Given the description of an element on the screen output the (x, y) to click on. 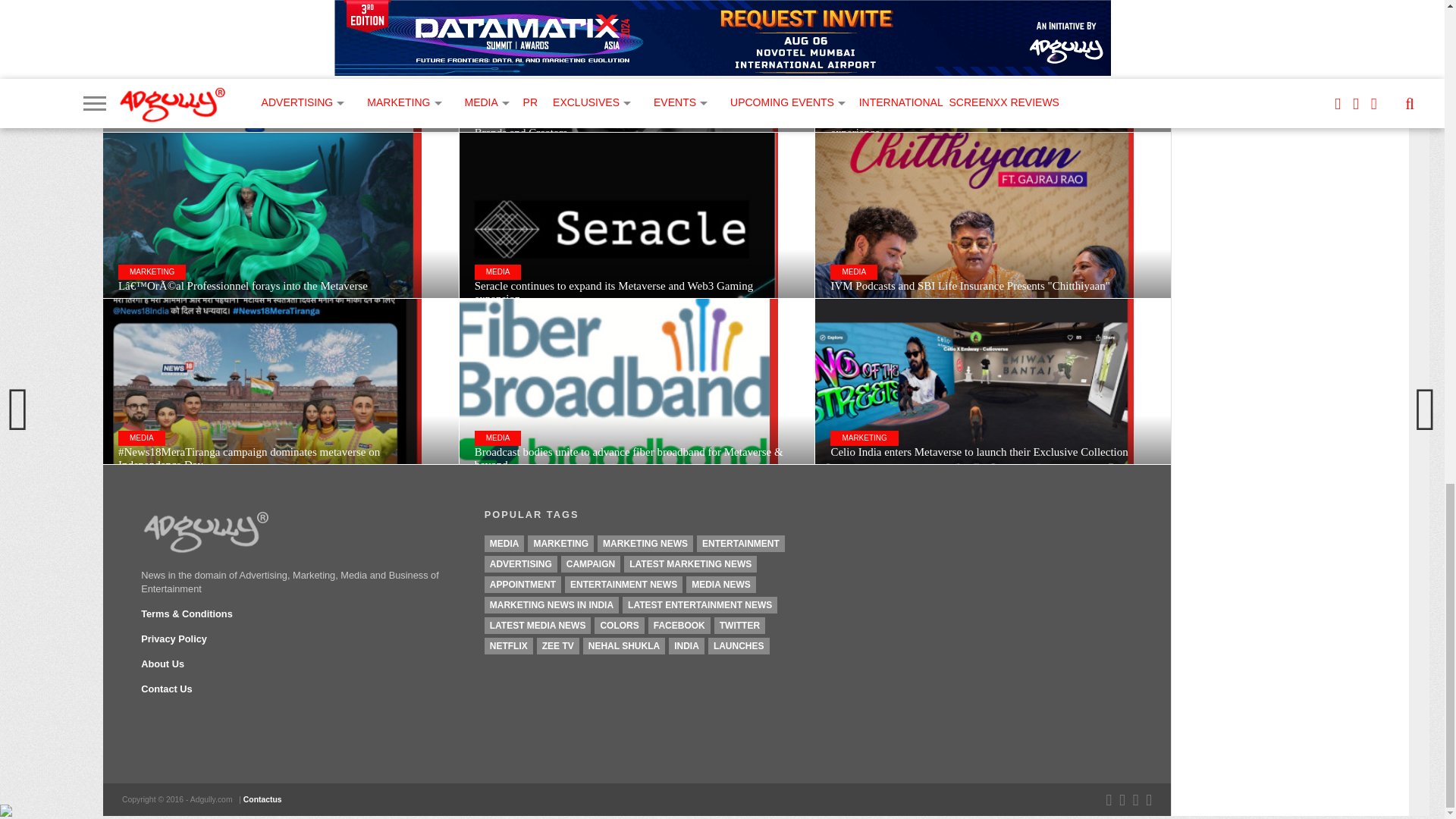
Entertainment (740, 543)
Marketing (560, 543)
Appointment (522, 584)
Advertising (520, 564)
Entertainment News (623, 584)
Media (504, 543)
Campaign (590, 564)
Marketing News (644, 543)
Latest Marketing News (690, 564)
